Given the description of an element on the screen output the (x, y) to click on. 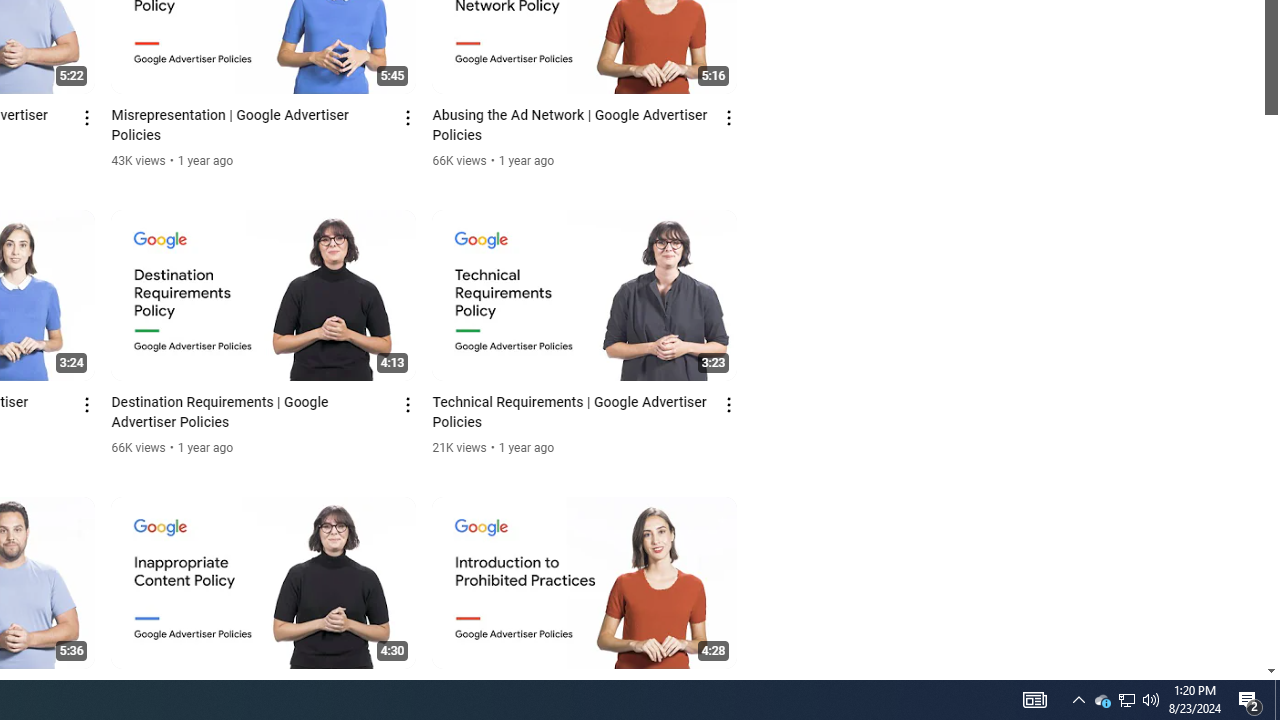
Action menu (729, 691)
